Given the description of an element on the screen output the (x, y) to click on. 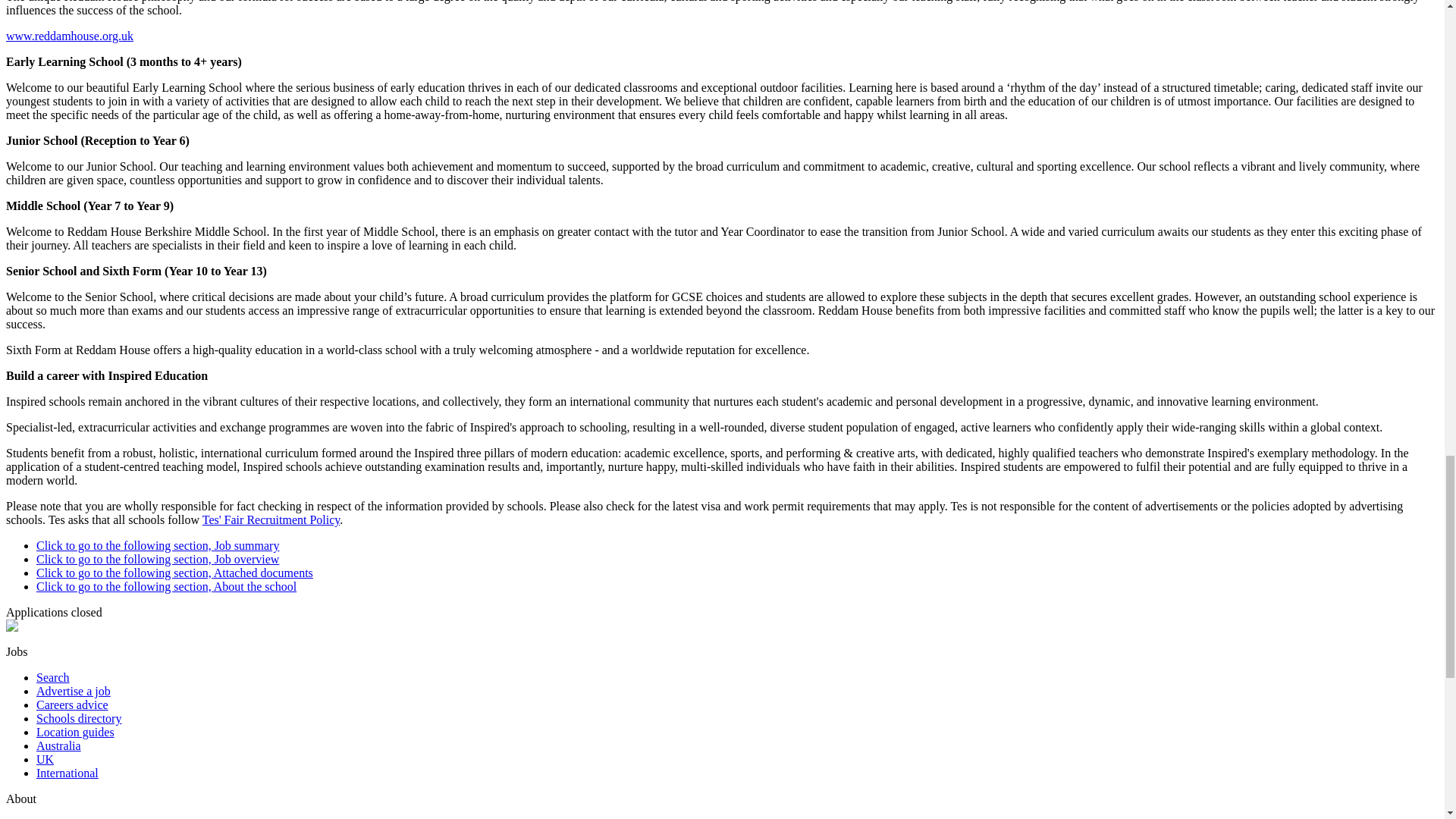
Advertise a job (73, 690)
www.reddamhouse.org.uk (69, 35)
Australia (58, 745)
Careers advice (71, 704)
Tes' Fair Recruitment Policy (271, 519)
Schools directory (78, 717)
UK (44, 758)
Location guides (75, 731)
Click to go to the following section, Job overview (157, 558)
Click to go to the following section, About the school (166, 585)
